Given the description of an element on the screen output the (x, y) to click on. 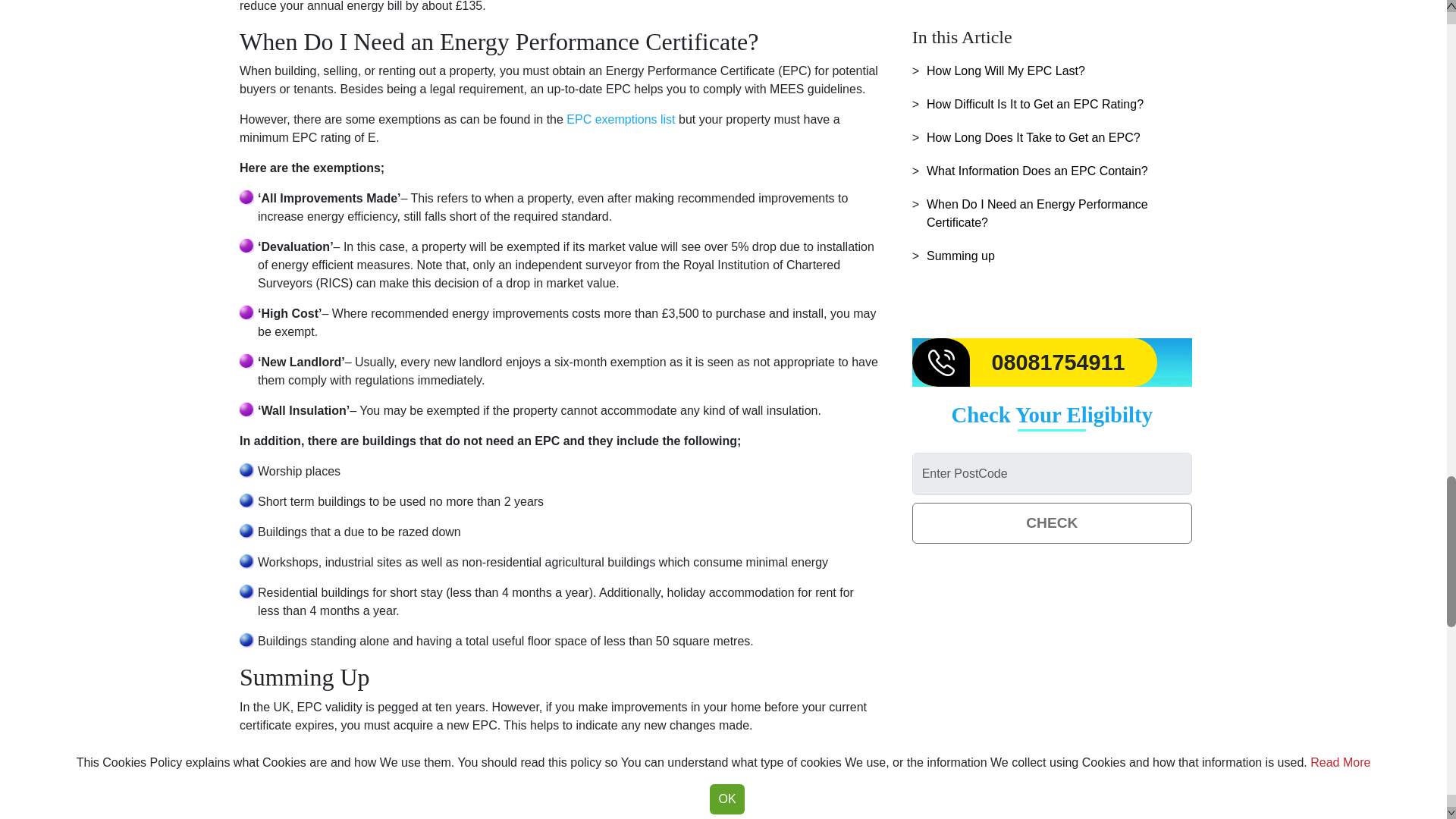
ECO-grants.com (666, 803)
EPC exemptions list (620, 119)
fill out our contact form (541, 808)
